Given the description of an element on the screen output the (x, y) to click on. 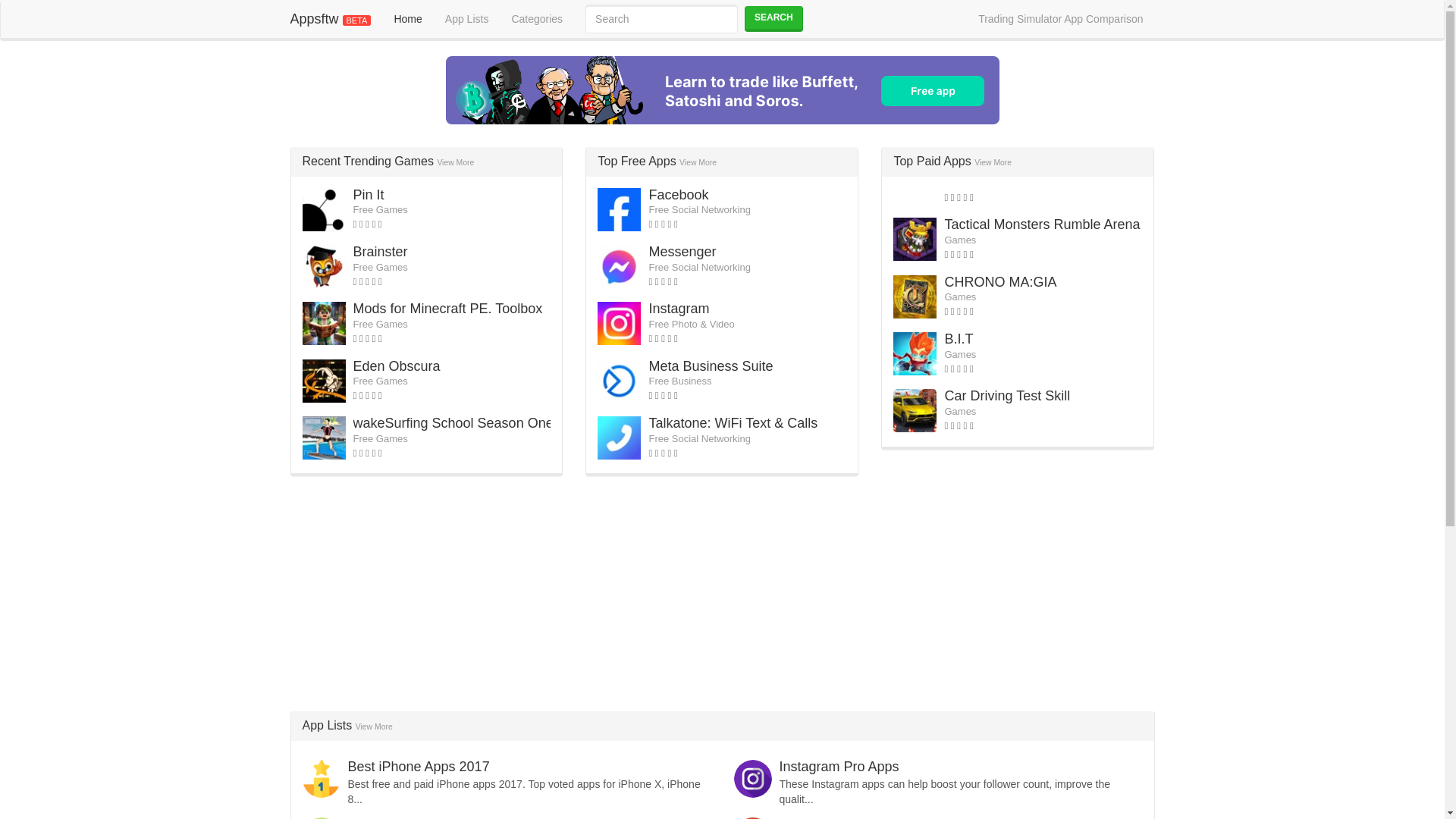
Recent Trending Games View More (387, 160)
wakeSurfing School Season One (453, 422)
View B.I.T (957, 338)
Meta Business Suite (710, 365)
SEARCH (773, 18)
View wakeSurfing School Season One (453, 422)
Apps to Increase Productivity (435, 817)
View Facebook (677, 194)
View Brainster (380, 251)
View Messenger (681, 251)
View Car Driving Test Skill (1006, 395)
View Pin It (368, 194)
Best iPhone Apps 2017 (418, 766)
View Meta Business Suite (710, 365)
Top Paid Apps View More (952, 160)
